Given the description of an element on the screen output the (x, y) to click on. 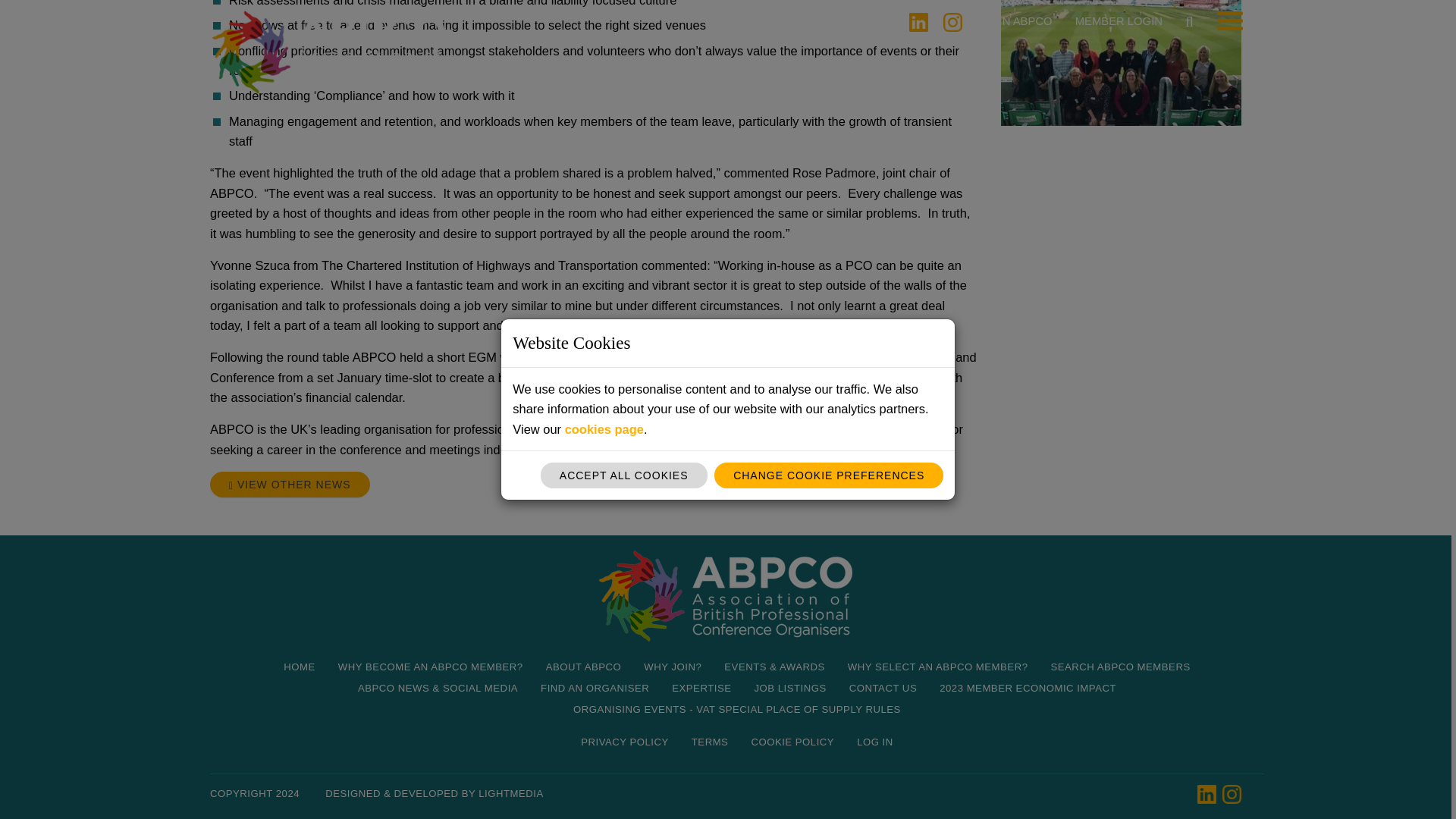
CHANGE COOKIE PREFERENCES (828, 8)
Accept all cookies (623, 8)
Accept all cookies (623, 8)
